Given the description of an element on the screen output the (x, y) to click on. 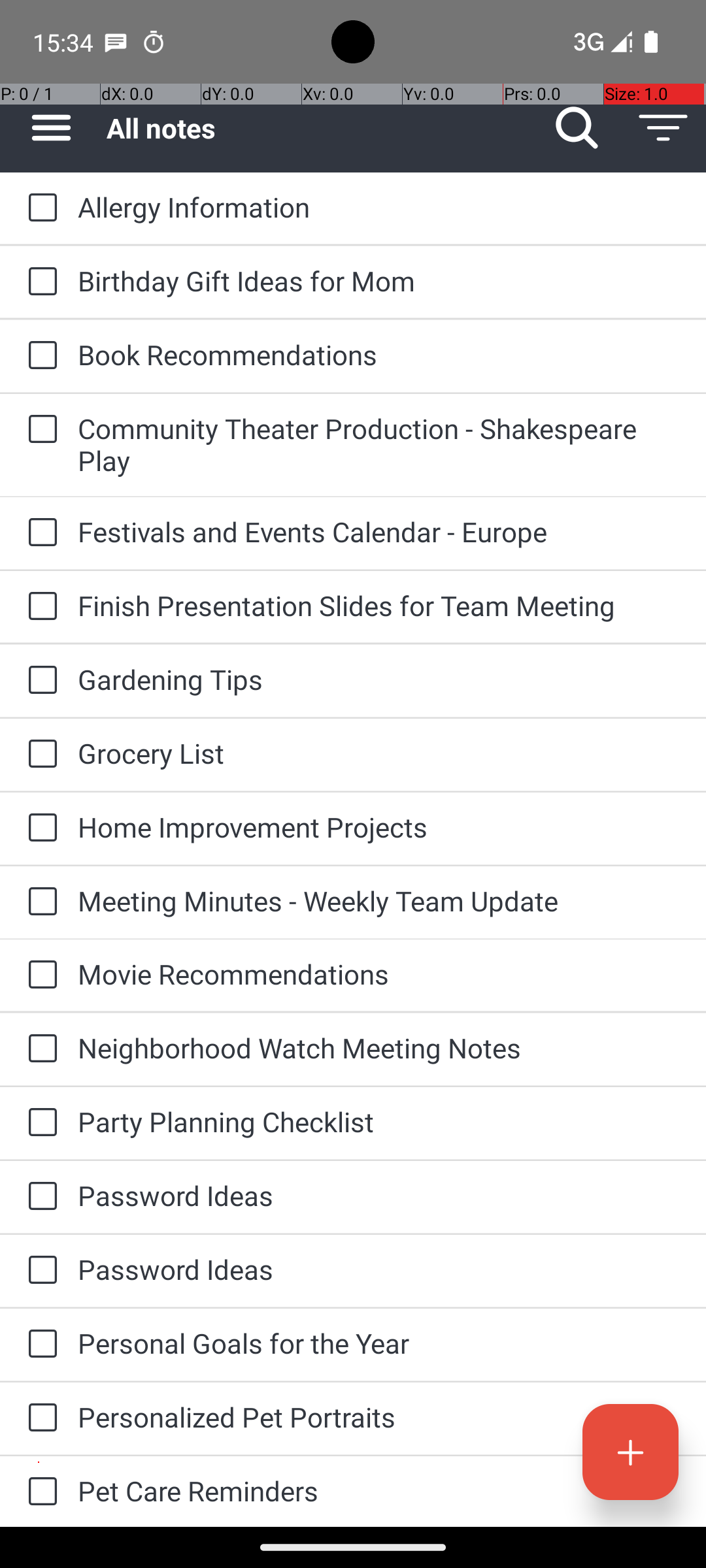
to-do: Allergy Information Element type: android.widget.CheckBox (38, 208)
Allergy Information Element type: android.widget.TextView (378, 206)
to-do: Birthday Gift Ideas for Mom Element type: android.widget.CheckBox (38, 282)
to-do: Book Recommendations Element type: android.widget.CheckBox (38, 356)
Book Recommendations Element type: android.widget.TextView (378, 354)
to-do: Community Theater Production - Shakespeare Play Element type: android.widget.CheckBox (38, 429)
Community Theater Production - Shakespeare Play Element type: android.widget.TextView (378, 443)
to-do: Festivals and Events Calendar - Europe Element type: android.widget.CheckBox (38, 533)
Festivals and Events Calendar - Europe Element type: android.widget.TextView (378, 531)
to-do: Finish Presentation Slides for Team Meeting Element type: android.widget.CheckBox (38, 606)
Finish Presentation Slides for Team Meeting Element type: android.widget.TextView (378, 604)
to-do: Gardening Tips Element type: android.widget.CheckBox (38, 680)
Gardening Tips Element type: android.widget.TextView (378, 678)
to-do: Home Improvement Projects Element type: android.widget.CheckBox (38, 828)
Home Improvement Projects Element type: android.widget.TextView (378, 826)
to-do: Meeting Minutes - Weekly Team Update Element type: android.widget.CheckBox (38, 902)
Meeting Minutes - Weekly Team Update Element type: android.widget.TextView (378, 900)
to-do: Movie Recommendations Element type: android.widget.CheckBox (38, 975)
Movie Recommendations Element type: android.widget.TextView (378, 973)
to-do: Neighborhood Watch Meeting Notes Element type: android.widget.CheckBox (38, 1049)
Neighborhood Watch Meeting Notes Element type: android.widget.TextView (378, 1047)
to-do: Party Planning Checklist Element type: android.widget.CheckBox (38, 1123)
Party Planning Checklist Element type: android.widget.TextView (378, 1121)
to-do: Password Ideas Element type: android.widget.CheckBox (38, 1196)
Password Ideas Element type: android.widget.TextView (378, 1194)
to-do: Personal Goals for the Year Element type: android.widget.CheckBox (38, 1344)
Personal Goals for the Year Element type: android.widget.TextView (378, 1342)
to-do: Personalized Pet Portraits Element type: android.widget.CheckBox (38, 1418)
Personalized Pet Portraits Element type: android.widget.TextView (378, 1416)
to-do: Pet Care Reminders Element type: android.widget.CheckBox (38, 1491)
Pet Care Reminders Element type: android.widget.TextView (378, 1490)
